Given the description of an element on the screen output the (x, y) to click on. 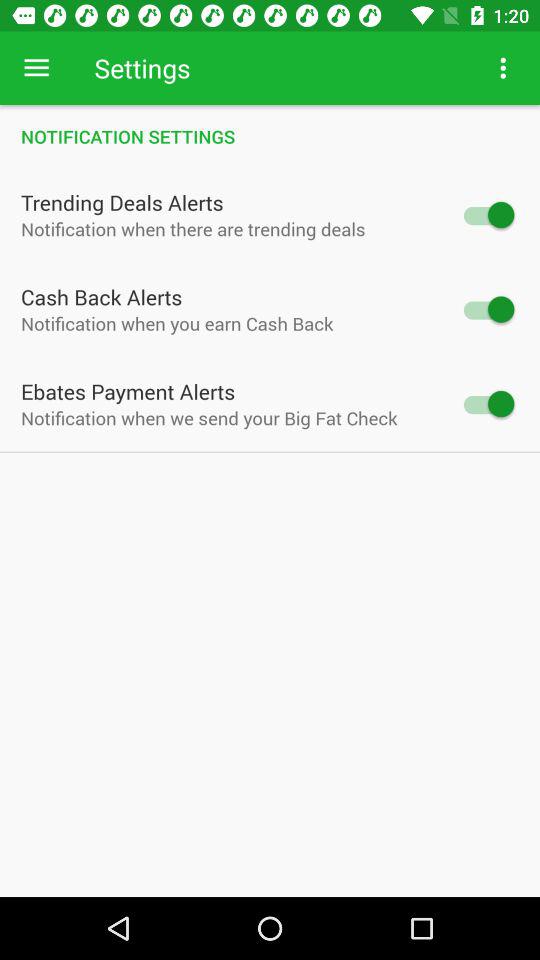
toggle option (487, 214)
